Given the description of an element on the screen output the (x, y) to click on. 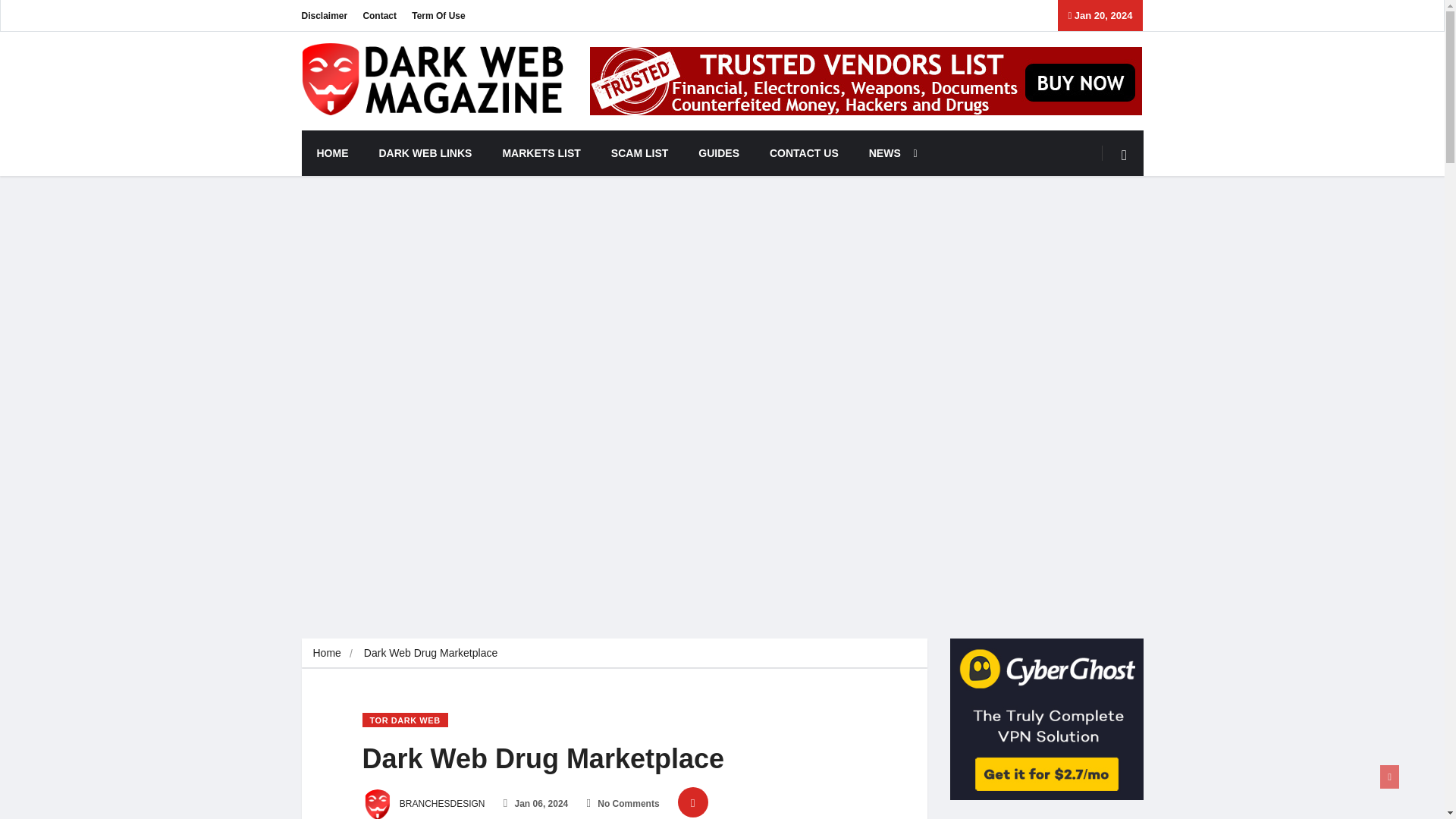
SCAM LIST (638, 153)
Contact (379, 15)
DARK WEB LINKS (425, 153)
Disclaimer (324, 15)
CONTACT US (803, 153)
Home (326, 653)
HOME (332, 153)
BRANCHESDESIGN (423, 803)
GUIDES (718, 153)
NEWS (888, 153)
